Given the description of an element on the screen output the (x, y) to click on. 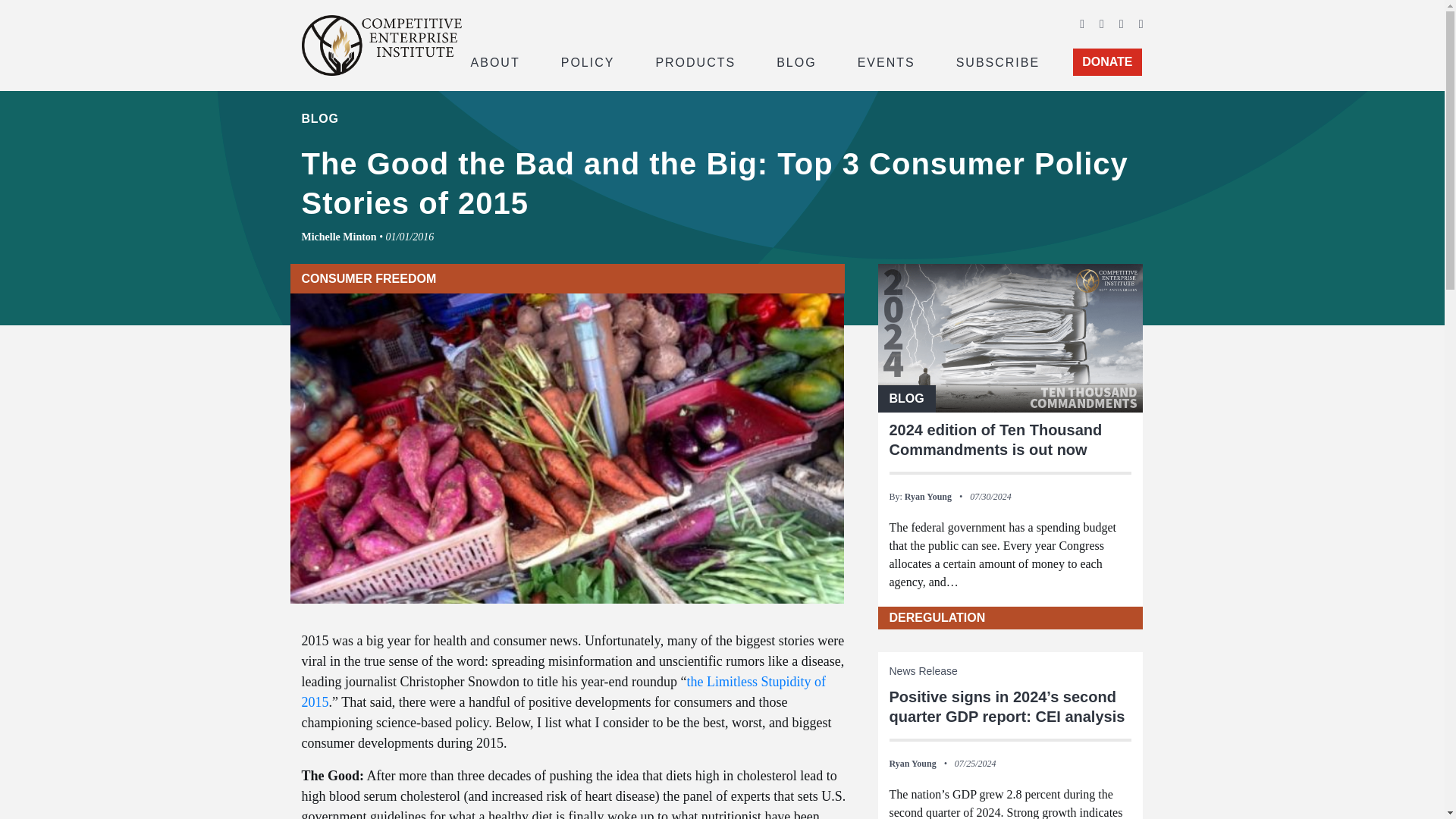
ABOUT (495, 61)
SUBSCRIBE (997, 61)
PRODUCTS (694, 61)
POLICY (588, 61)
DONATE (1107, 62)
EVENTS (886, 61)
BLOG (796, 61)
